Given the description of an element on the screen output the (x, y) to click on. 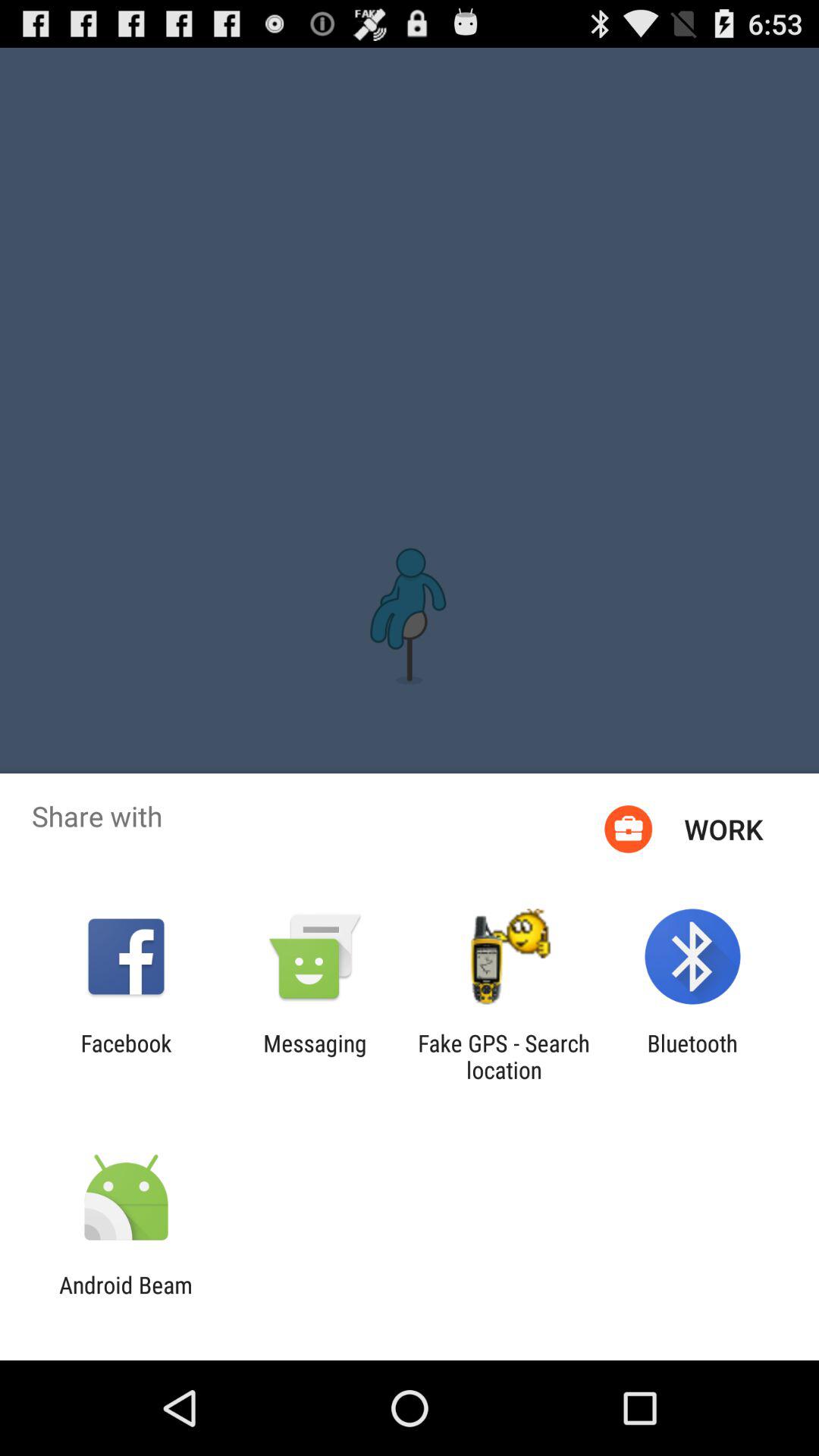
turn off the messaging item (314, 1056)
